Given the description of an element on the screen output the (x, y) to click on. 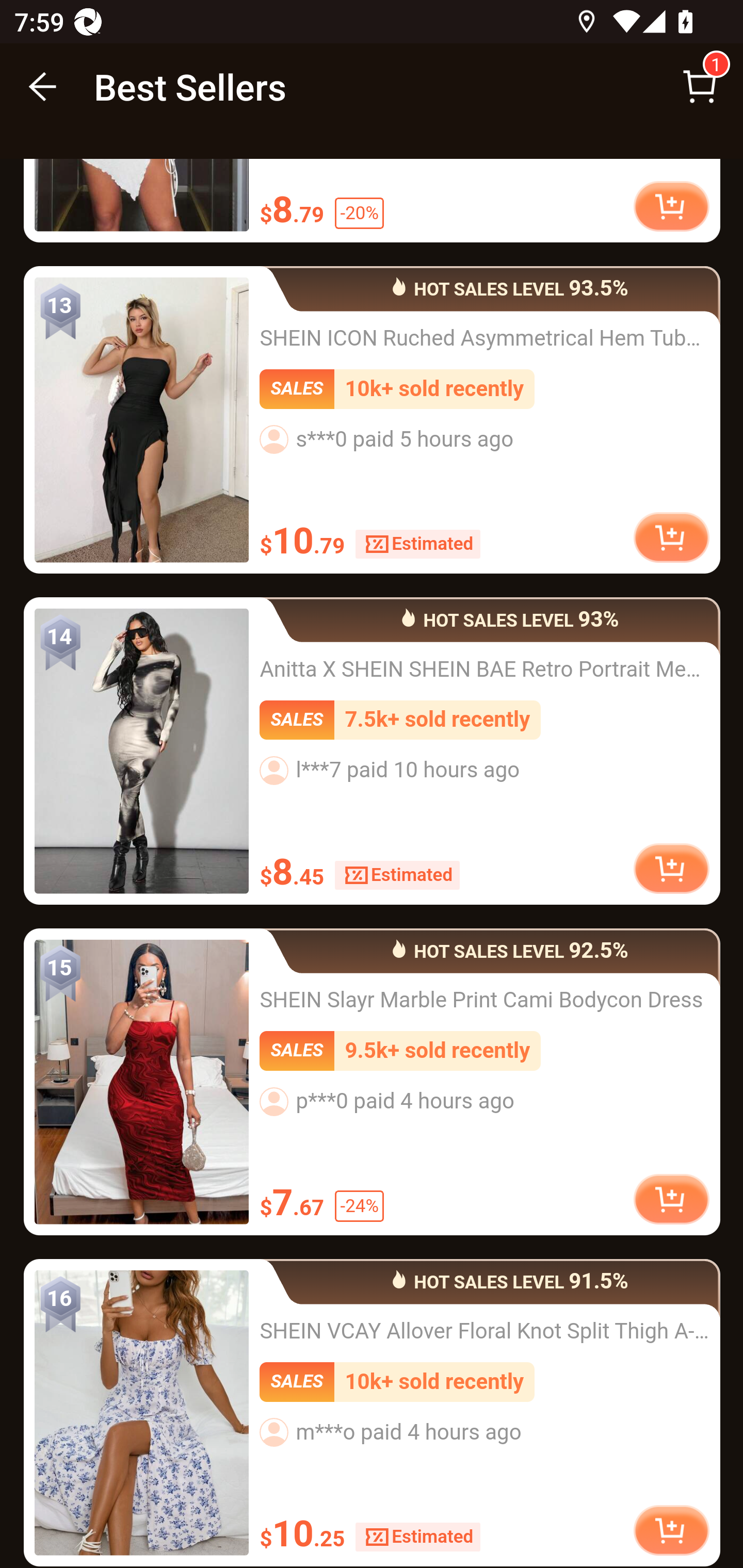
BACK (43, 86)
Cart 1 (699, 86)
add to cart (670, 208)
SHEIN ICON Ruched Asymmetrical Hem Tube Dress (141, 420)
add to cart (670, 538)
add to cart (670, 869)
SHEIN Slayr Marble Print Cami Bodycon Dress (141, 1083)
add to cart (670, 1200)
add to cart (670, 1531)
